Given the description of an element on the screen output the (x, y) to click on. 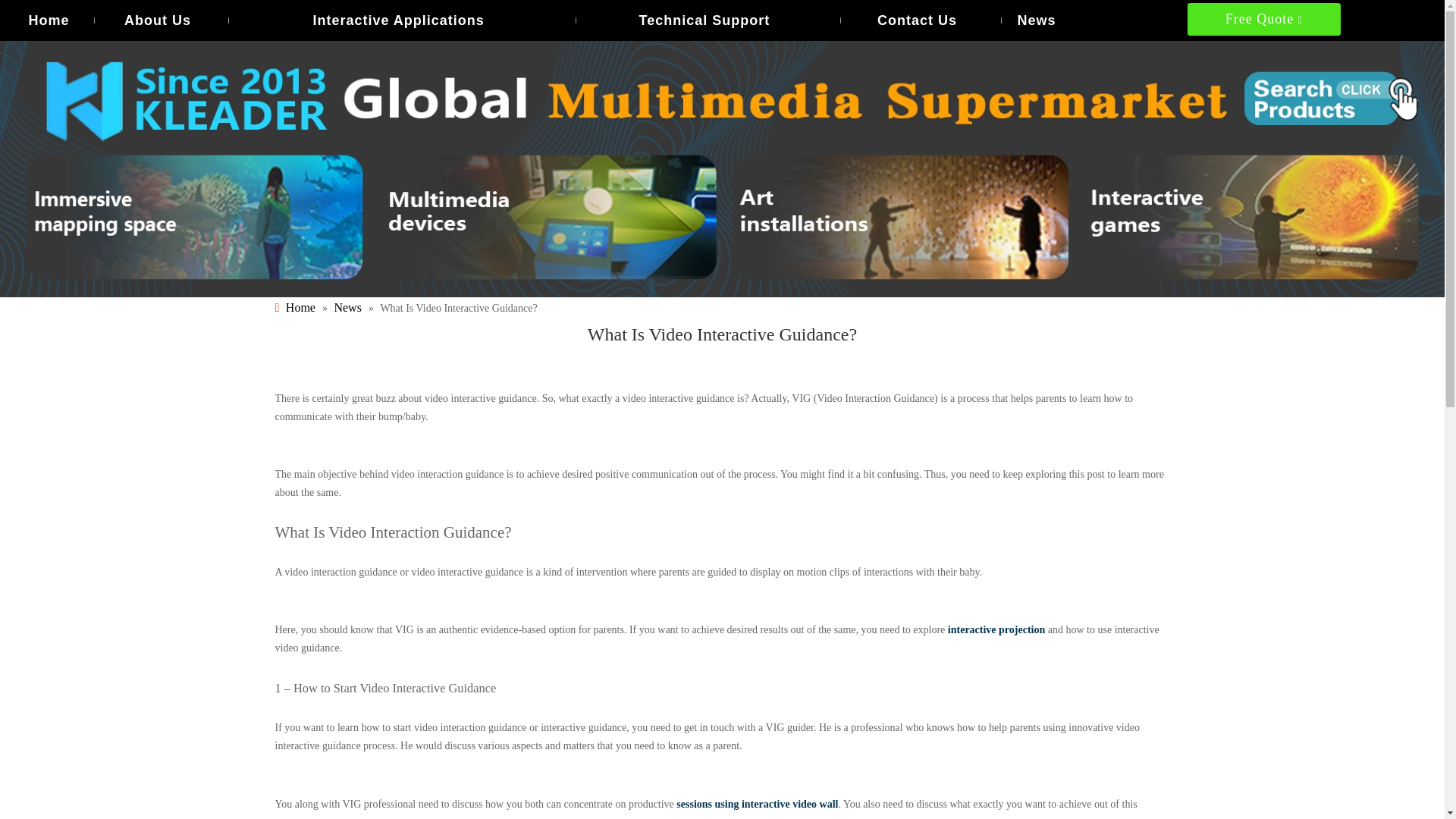
Interactive Applications (398, 20)
News (1036, 20)
About Us (157, 20)
Technical Support (703, 20)
Contact Us (916, 20)
Free Quote  (1264, 19)
Home (48, 20)
